Given the description of an element on the screen output the (x, y) to click on. 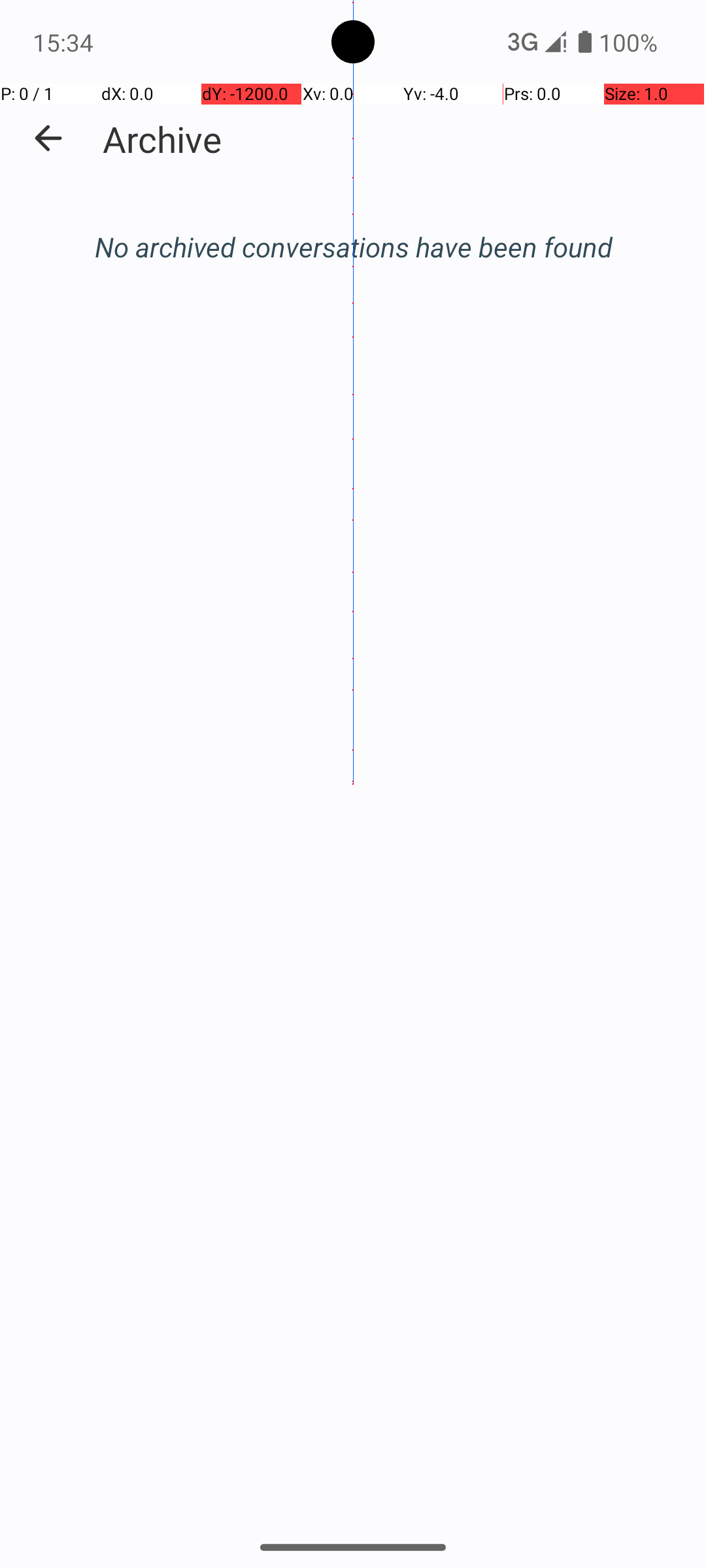
Archive Element type: android.widget.TextView (162, 138)
No archived conversations have been found Element type: android.widget.TextView (353, 246)
